Given the description of an element on the screen output the (x, y) to click on. 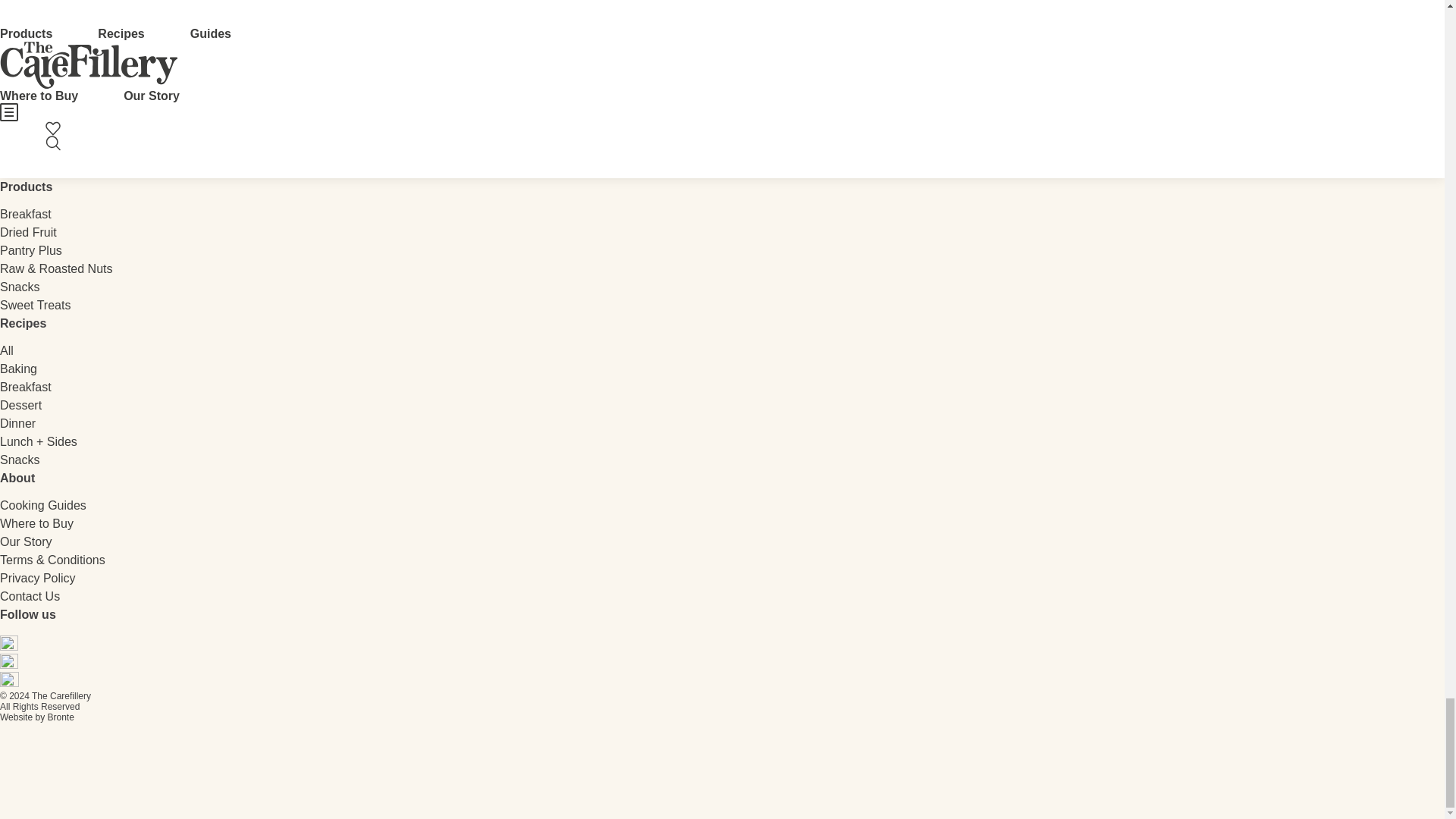
Dessert (21, 404)
Cooking Guides (42, 504)
Sweet Treats (34, 305)
Dried Fruit (28, 232)
Breakfast (25, 214)
Breakfast (25, 386)
Our Story (25, 541)
All (6, 350)
Pantry Plus (31, 250)
Website by Bronte (37, 162)
Where to Buy (37, 522)
Baking (18, 368)
Snacks (19, 286)
Snacks (19, 459)
Dinner (17, 422)
